Given the description of an element on the screen output the (x, y) to click on. 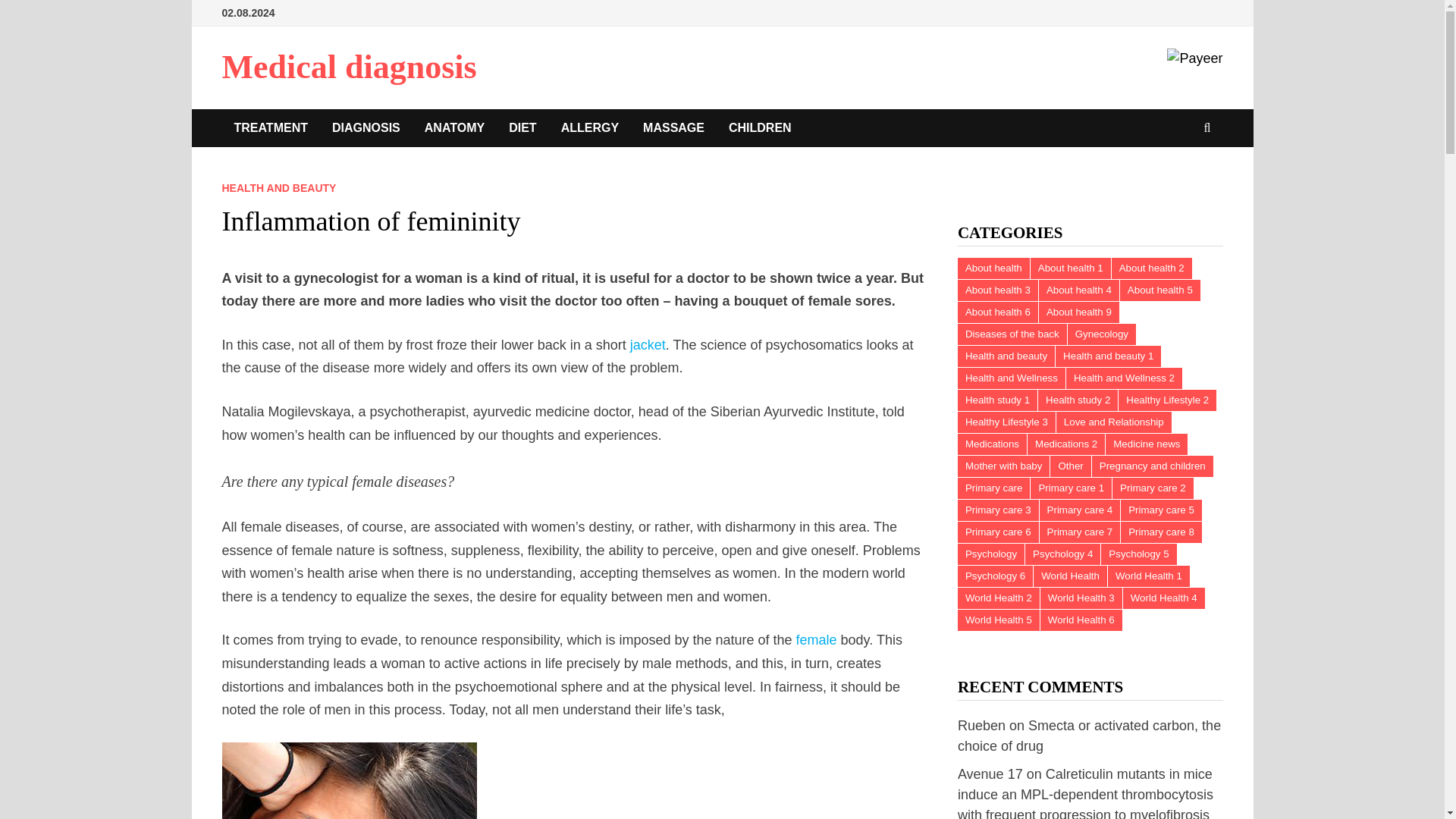
HEALTH AND BEAUTY (278, 187)
DIAGNOSIS (366, 127)
MASSAGE (673, 127)
female (816, 639)
Medical diagnosis (348, 66)
jacket (647, 344)
ANATOMY (454, 127)
ALLERGY (589, 127)
TREATMENT (269, 127)
CHILDREN (759, 127)
DIET (522, 127)
